Given the description of an element on the screen output the (x, y) to click on. 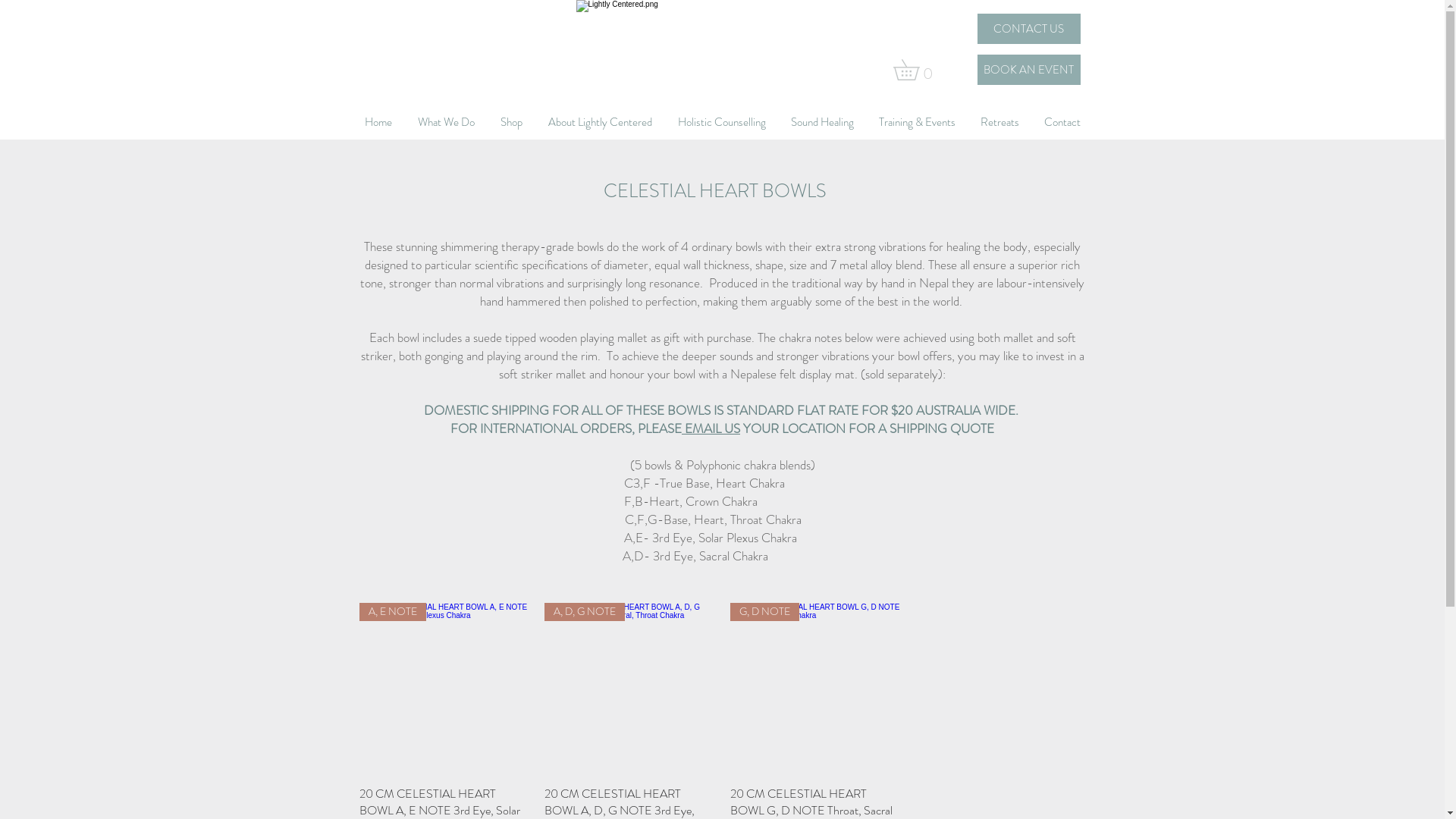
0 Element type: text (916, 69)
CONTACT US Element type: text (1027, 28)
About Lightly Centered Element type: text (600, 121)
Home Element type: text (377, 121)
Contact Element type: text (1061, 121)
Sound Healing Element type: text (822, 121)
Holistic Counselling Element type: text (721, 121)
Retreats Element type: text (999, 121)
EMAIL US Element type: text (710, 428)
Training & Events Element type: text (916, 121)
A, E NOTE Element type: text (444, 687)
Shop Element type: text (510, 121)
A, D, G NOTE Element type: text (629, 687)
BOOK AN EVENT Element type: text (1027, 69)
G, D NOTE Element type: text (814, 687)
What We Do Element type: text (445, 121)
